Given the description of an element on the screen output the (x, y) to click on. 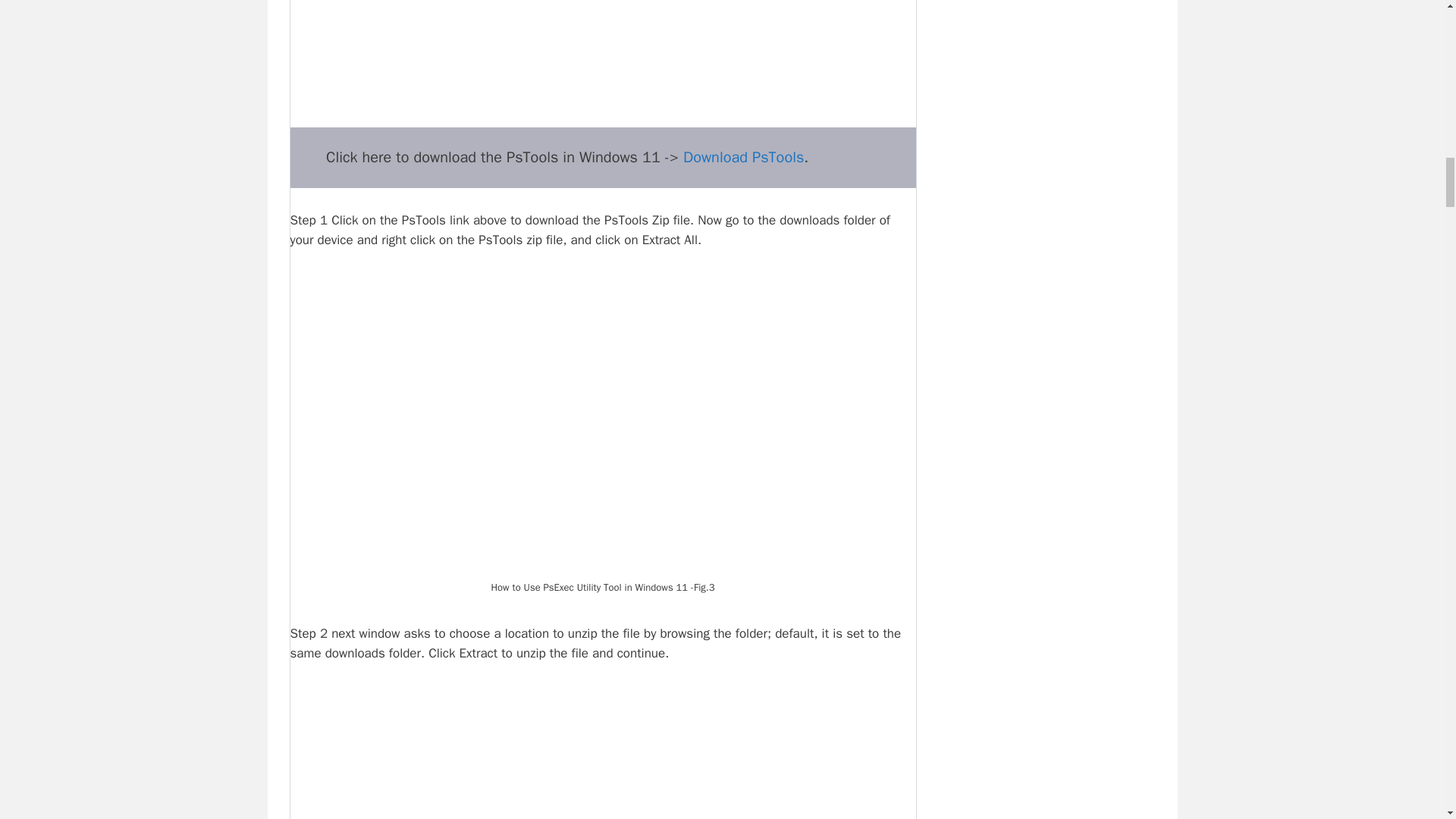
Download PsTools (742, 157)
How to Use PsExec Utility Tool in Windows 11 4 (601, 750)
How to Use PsExec Utility Tool in Windows 11 3 (602, 422)
